Given the description of an element on the screen output the (x, y) to click on. 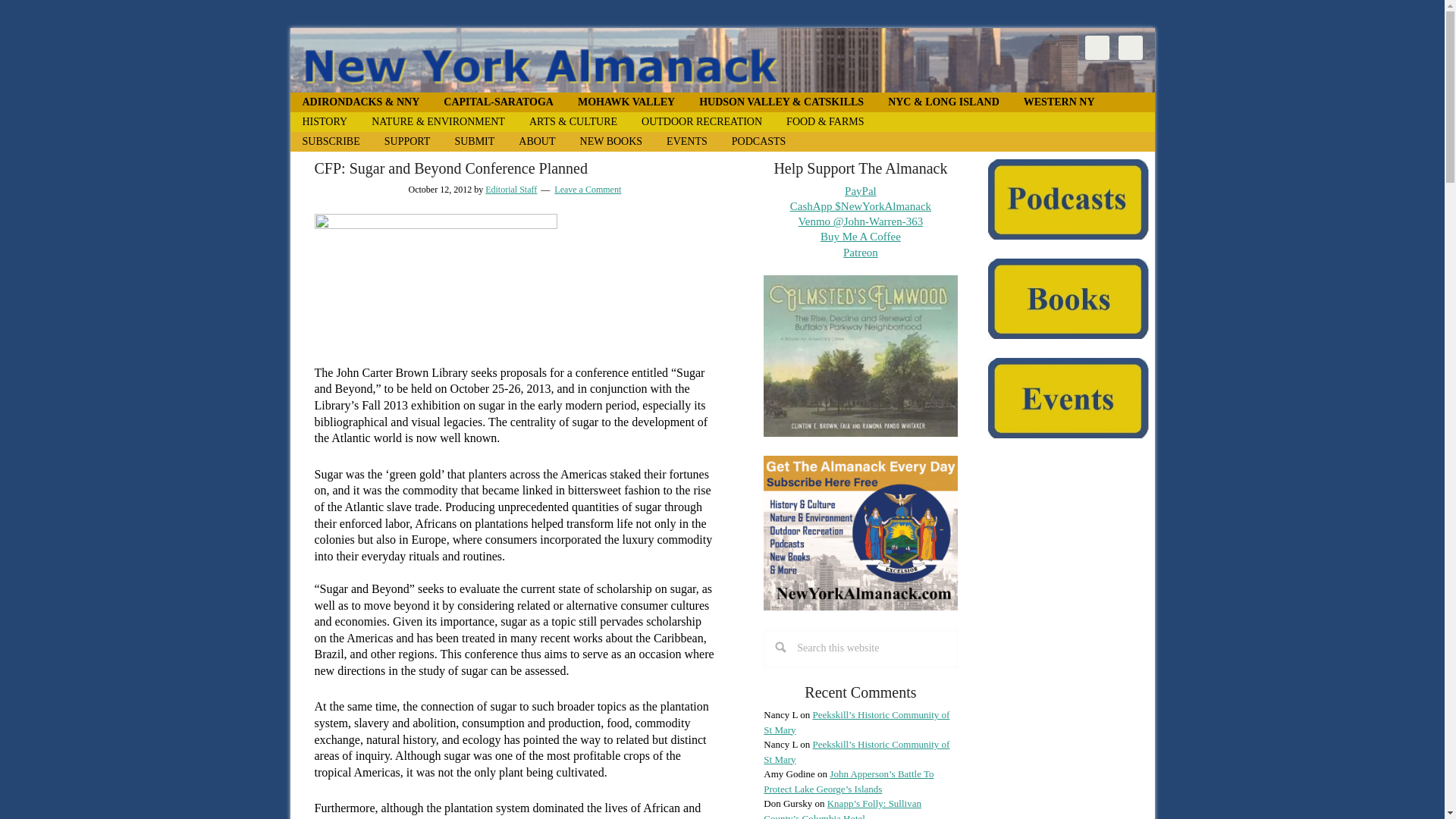
SUBMIT (474, 141)
HISTORY (324, 121)
SUPPORT (407, 141)
OUTDOOR RECREATION (701, 121)
CAPITAL-SARATOGA (498, 102)
MOHAWK VALLEY (626, 102)
Leave a Comment (587, 189)
Editorial Staff (510, 189)
New York Almanack (721, 59)
